Given the description of an element on the screen output the (x, y) to click on. 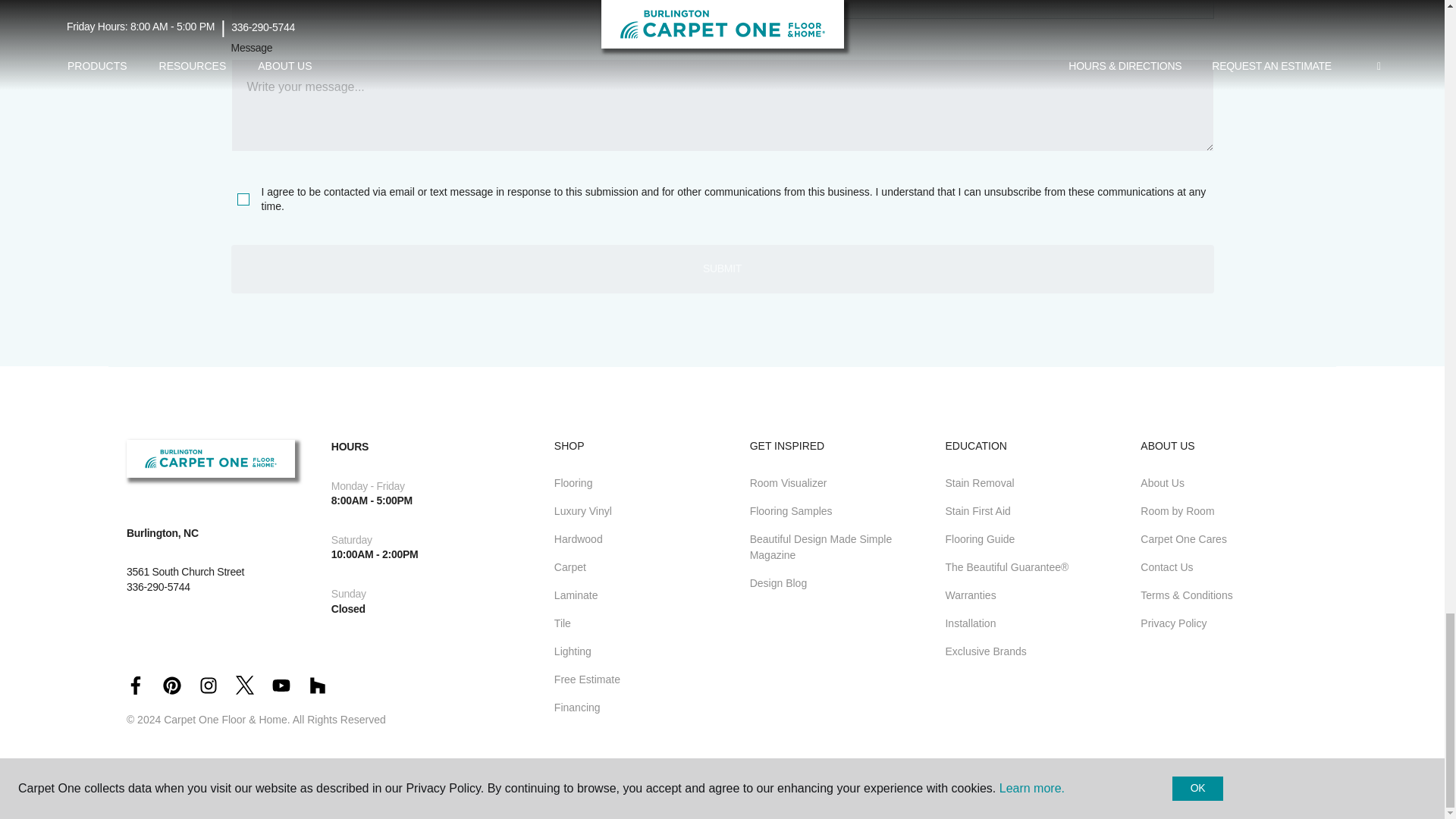
MyMessage (721, 104)
PostalCode (471, 10)
